Given the description of an element on the screen output the (x, y) to click on. 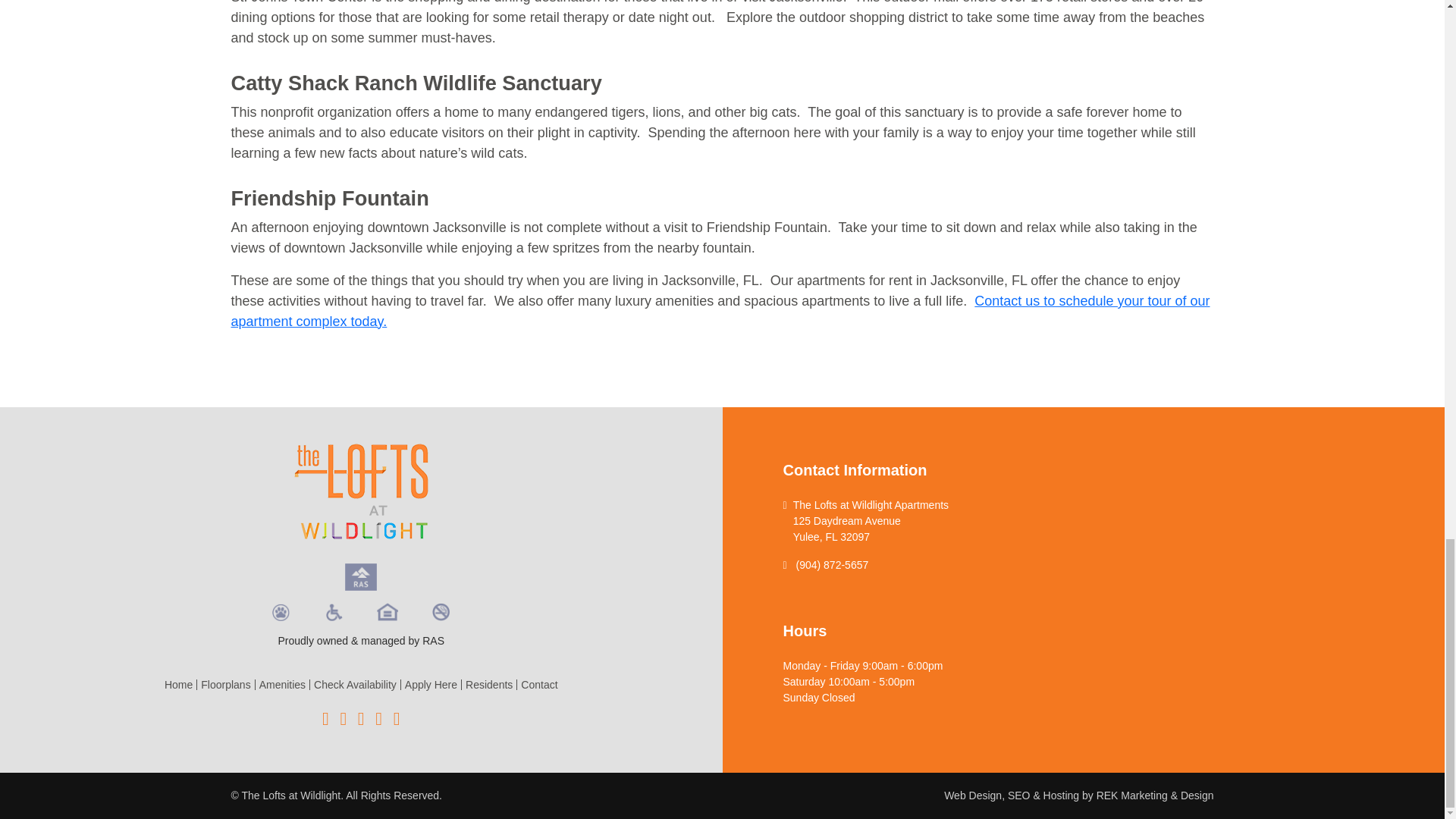
Floorplans (224, 684)
Amenities (282, 684)
Contact (536, 684)
Residents (488, 684)
Home (180, 684)
Apply Here (431, 684)
Check Availability (355, 684)
